Given the description of an element on the screen output the (x, y) to click on. 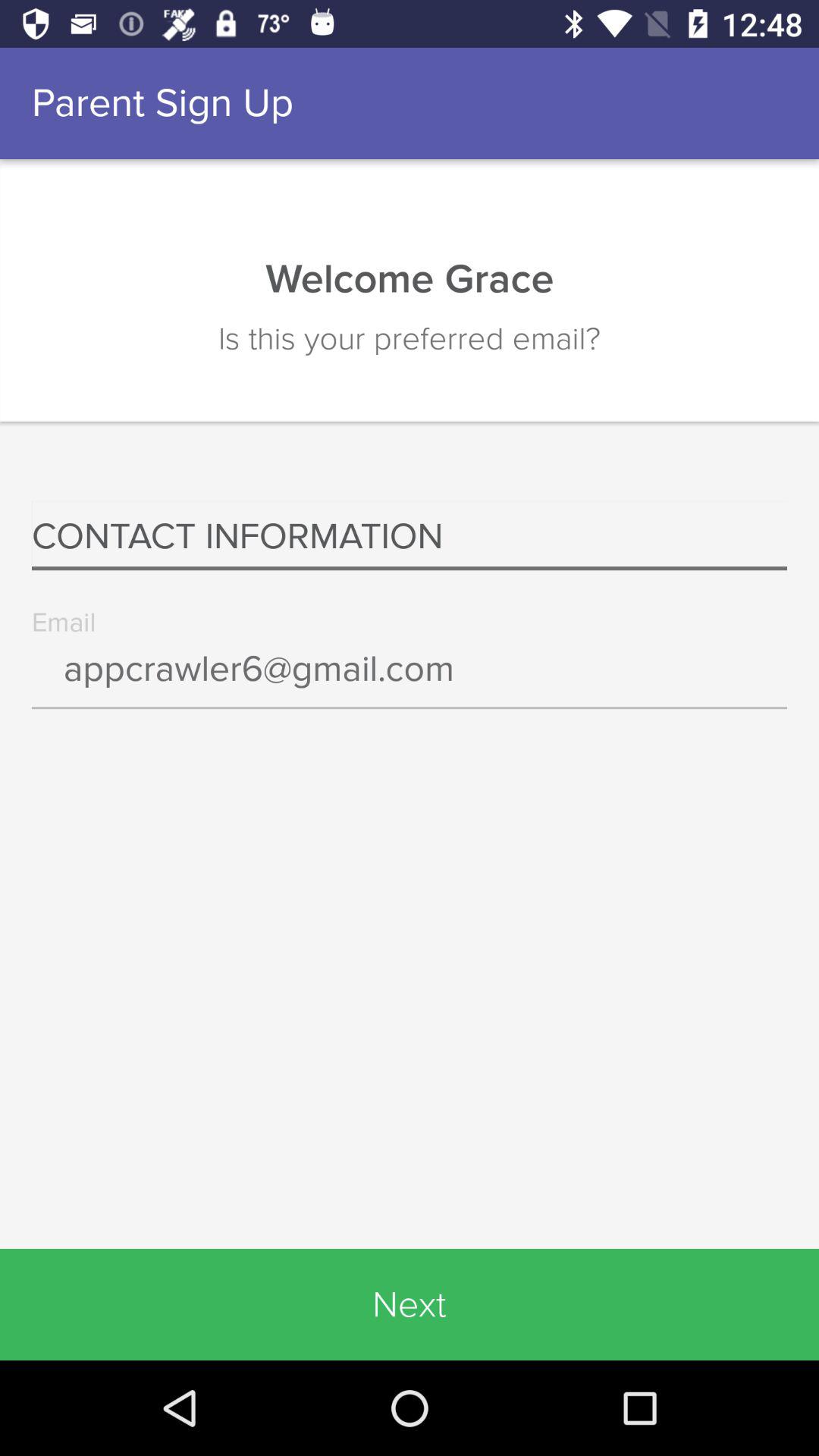
select the next item (409, 1304)
